Given the description of an element on the screen output the (x, y) to click on. 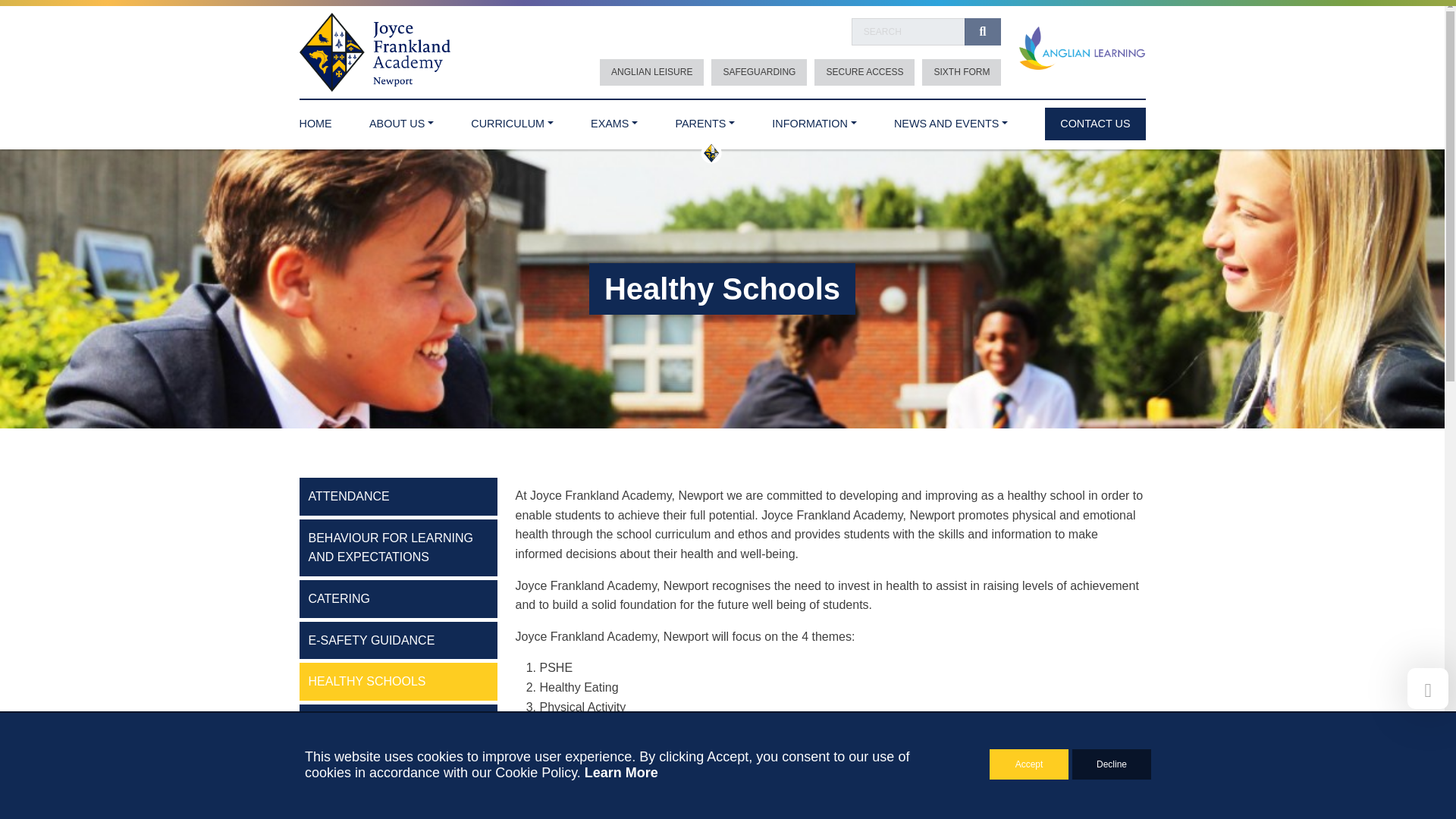
A JavaScript library for interactive maps (1123, 714)
CURRICULUM (511, 119)
SECURE ACCESS (863, 71)
SIXTH FORM (961, 71)
Anglian Learning (1081, 47)
ANGLIAN LEISURE (651, 71)
ABOUT US (401, 119)
PARENTS (705, 119)
HOME (314, 119)
SAFEGUARDING (758, 71)
Zoom in (895, 550)
EXAMS (614, 119)
Zoom out (895, 573)
